Given the description of an element on the screen output the (x, y) to click on. 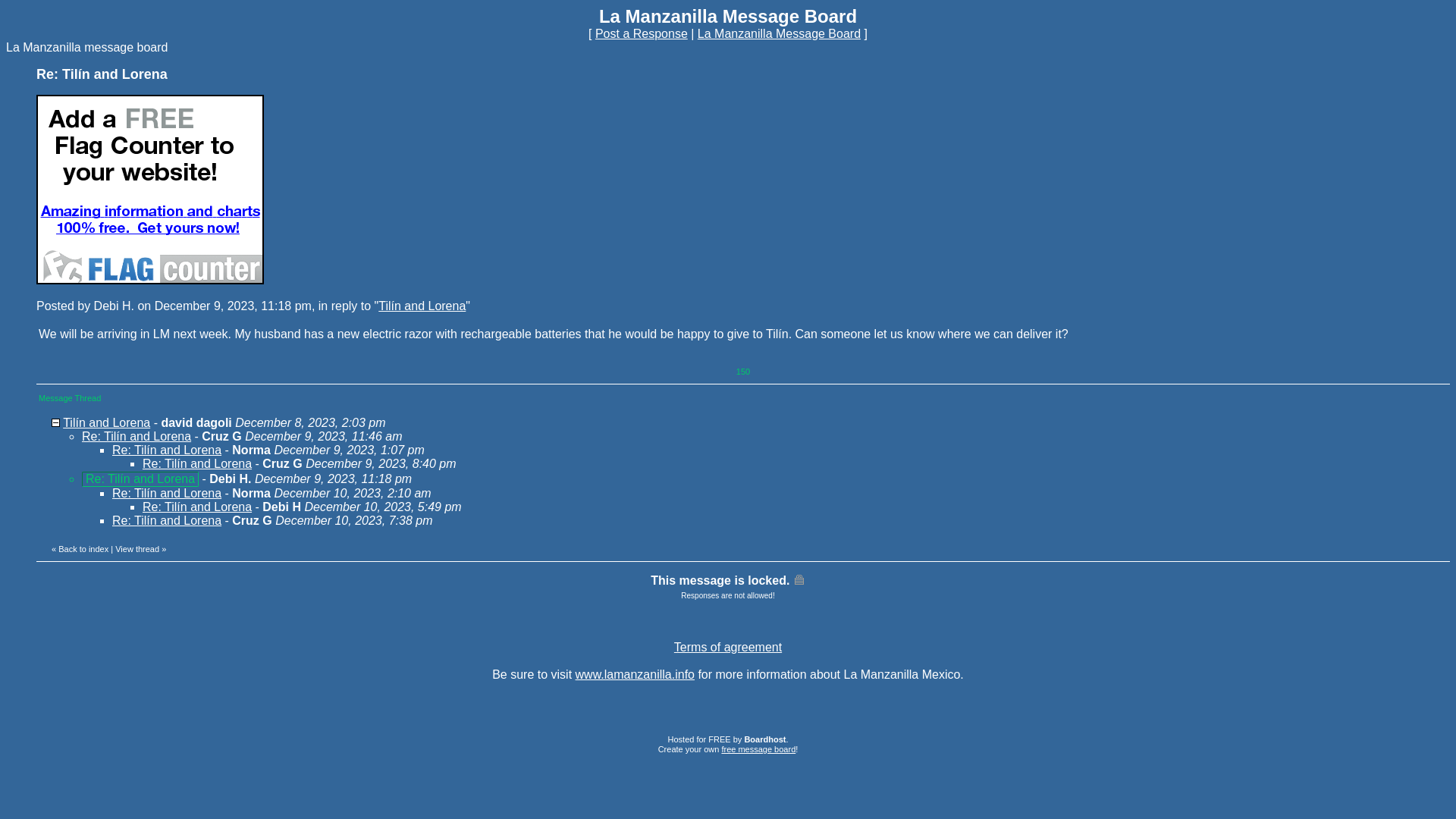
Back to index (82, 548)
Terms of agreement (727, 646)
Message Thread (69, 396)
View thread (136, 548)
www.lamanzanilla.info (727, 587)
La Manzanilla Message Board (634, 674)
Post a Response (778, 33)
